Given the description of an element on the screen output the (x, y) to click on. 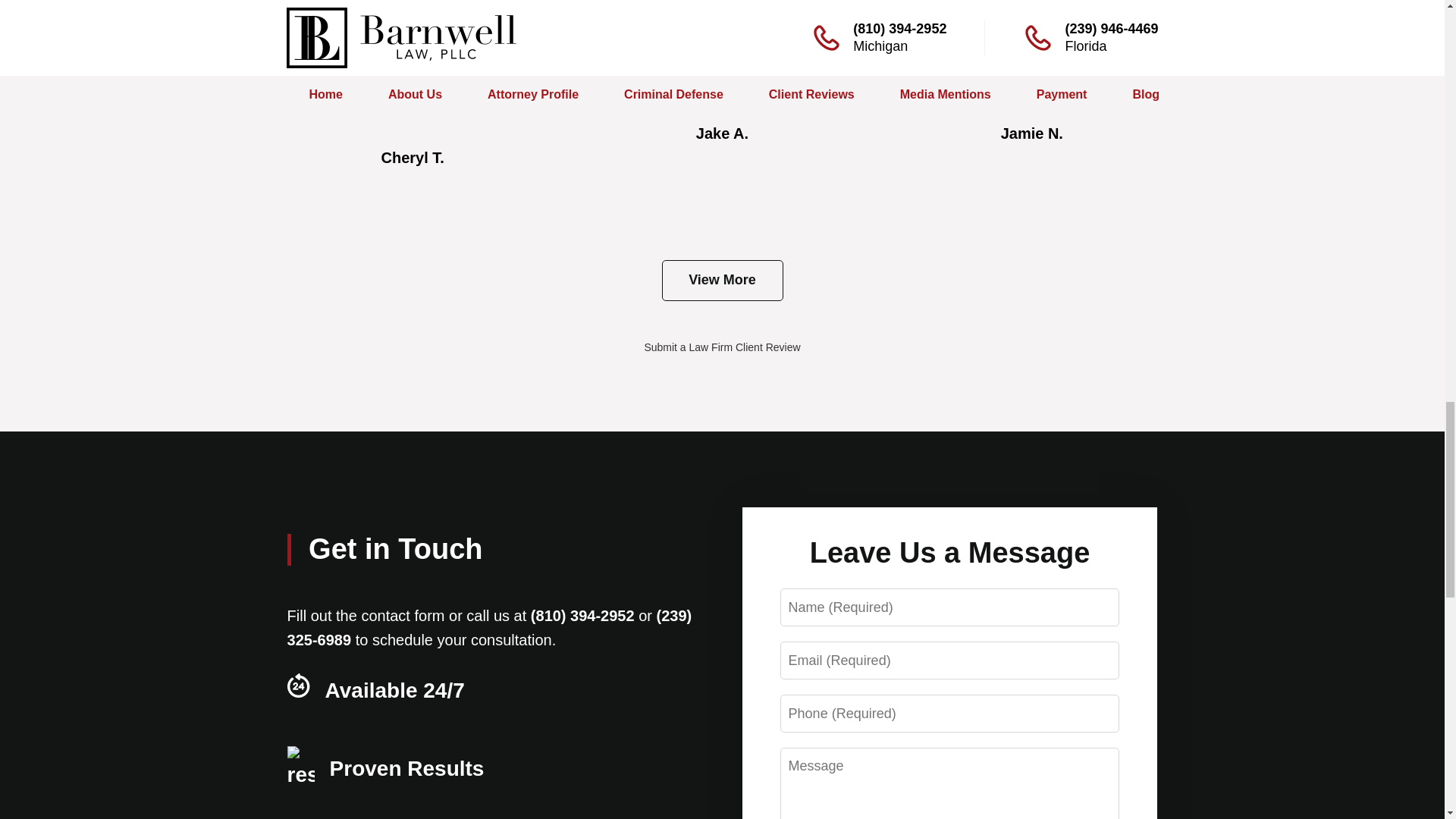
Submit a Law Firm Client Review (721, 346)
View More (722, 280)
